Given the description of an element on the screen output the (x, y) to click on. 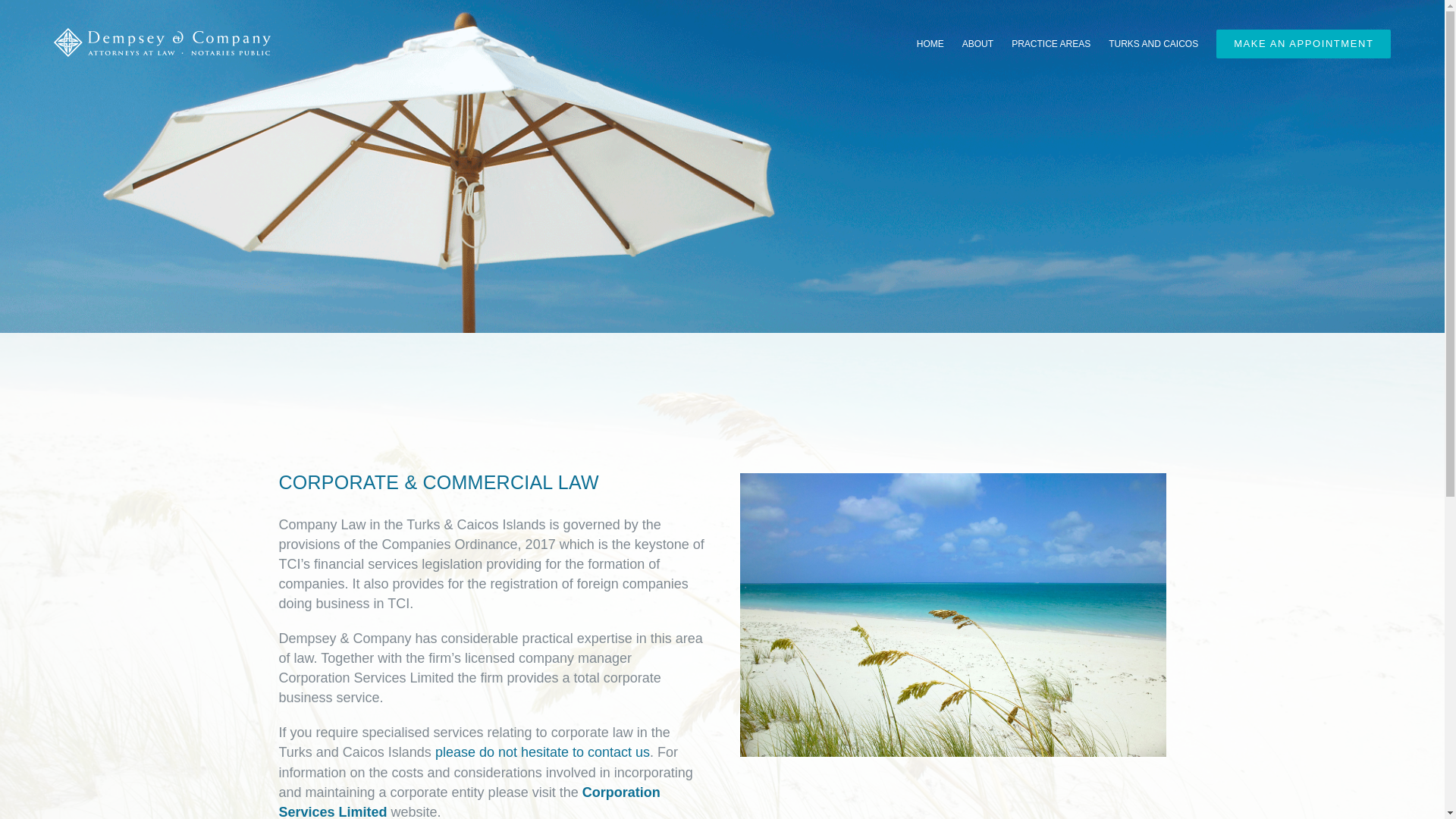
PRACTICE AREAS (1050, 43)
Corporation Services Limited (468, 801)
MAKE AN APPOINTMENT (1302, 43)
please do not hesitate to contact us (542, 752)
website01 (952, 614)
TURKS AND CAICOS (1153, 43)
